Given the description of an element on the screen output the (x, y) to click on. 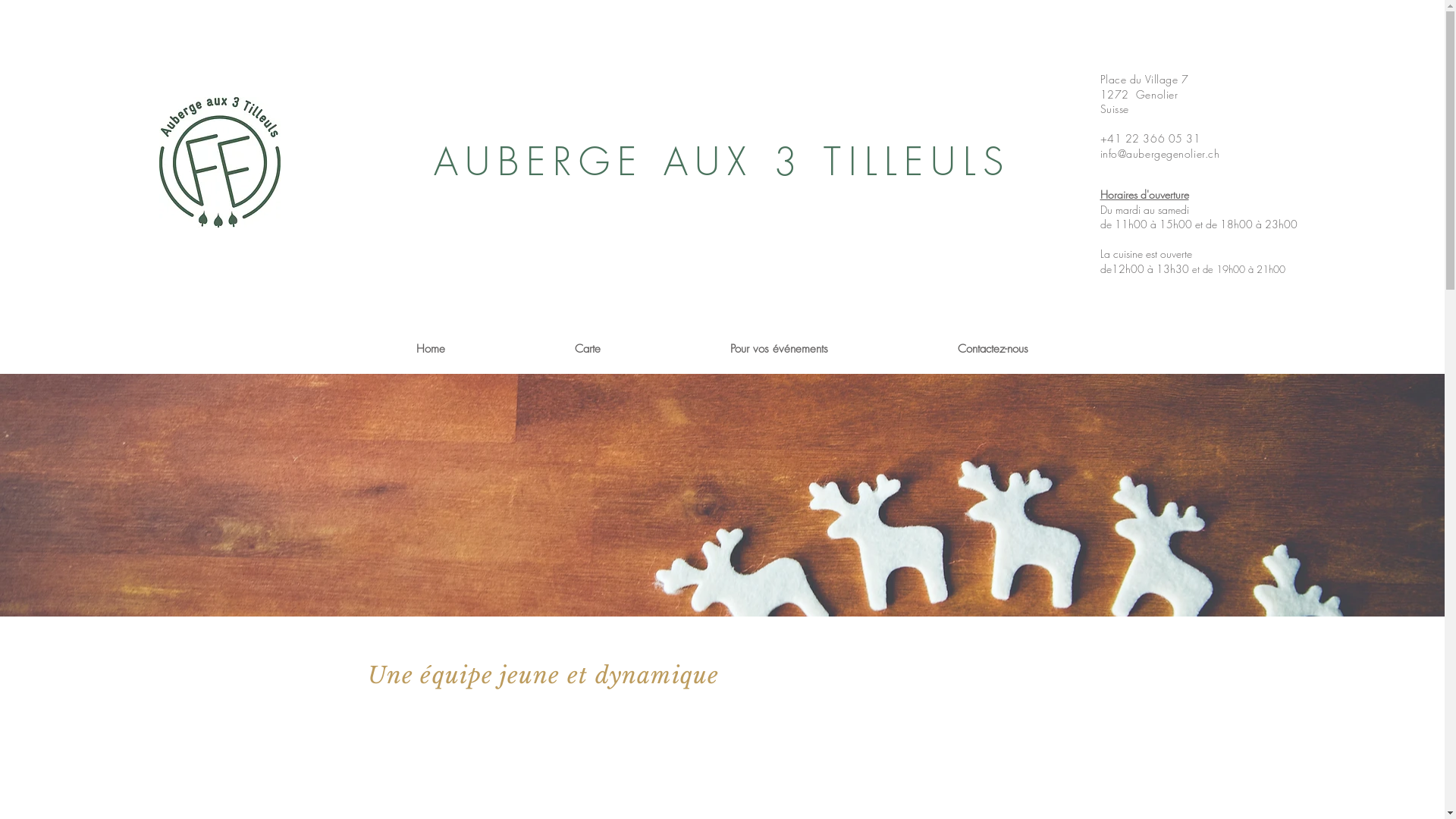
Contactez-nous Element type: text (993, 348)
AUBERGE AUX 3 TILLEULS Element type: text (721, 161)
Home Element type: text (429, 348)
info@aubergegenolier.ch Element type: text (1159, 153)
Carte Element type: text (587, 348)
